Given the description of an element on the screen output the (x, y) to click on. 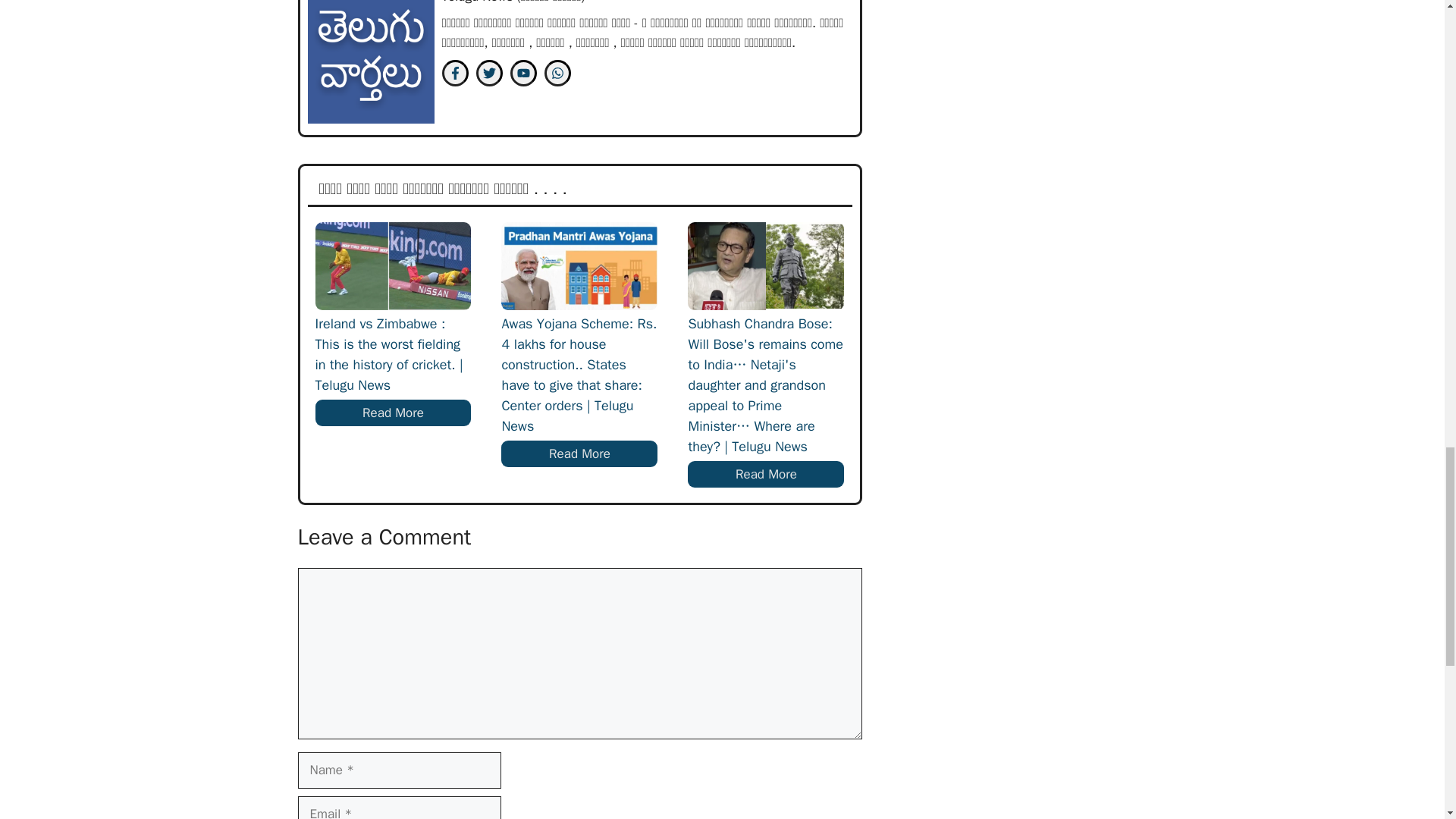
Read More (393, 412)
Read More (579, 453)
Read More (765, 474)
unnamed (370, 61)
